Given the description of an element on the screen output the (x, y) to click on. 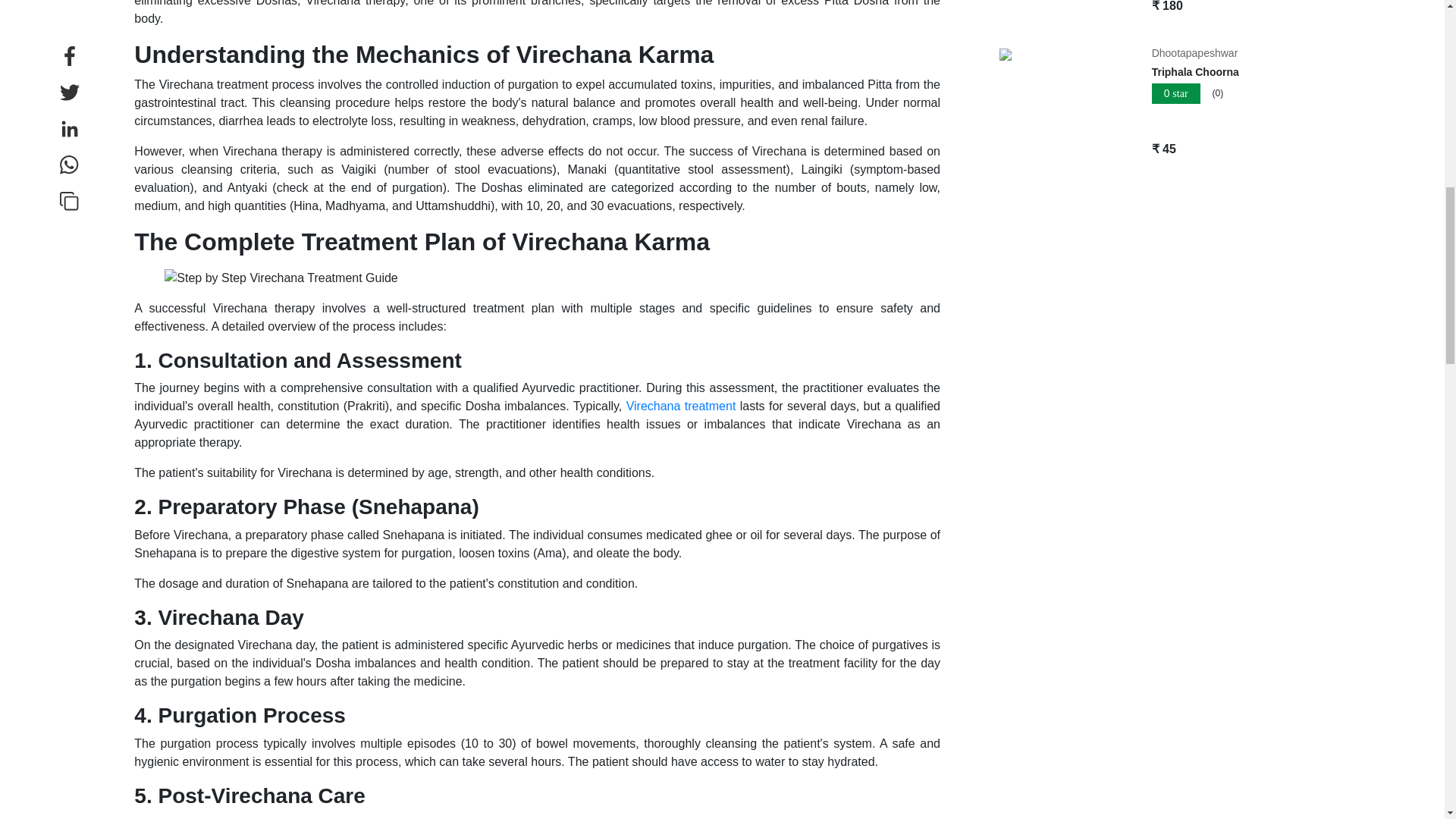
Virechana treatment (681, 405)
